Given the description of an element on the screen output the (x, y) to click on. 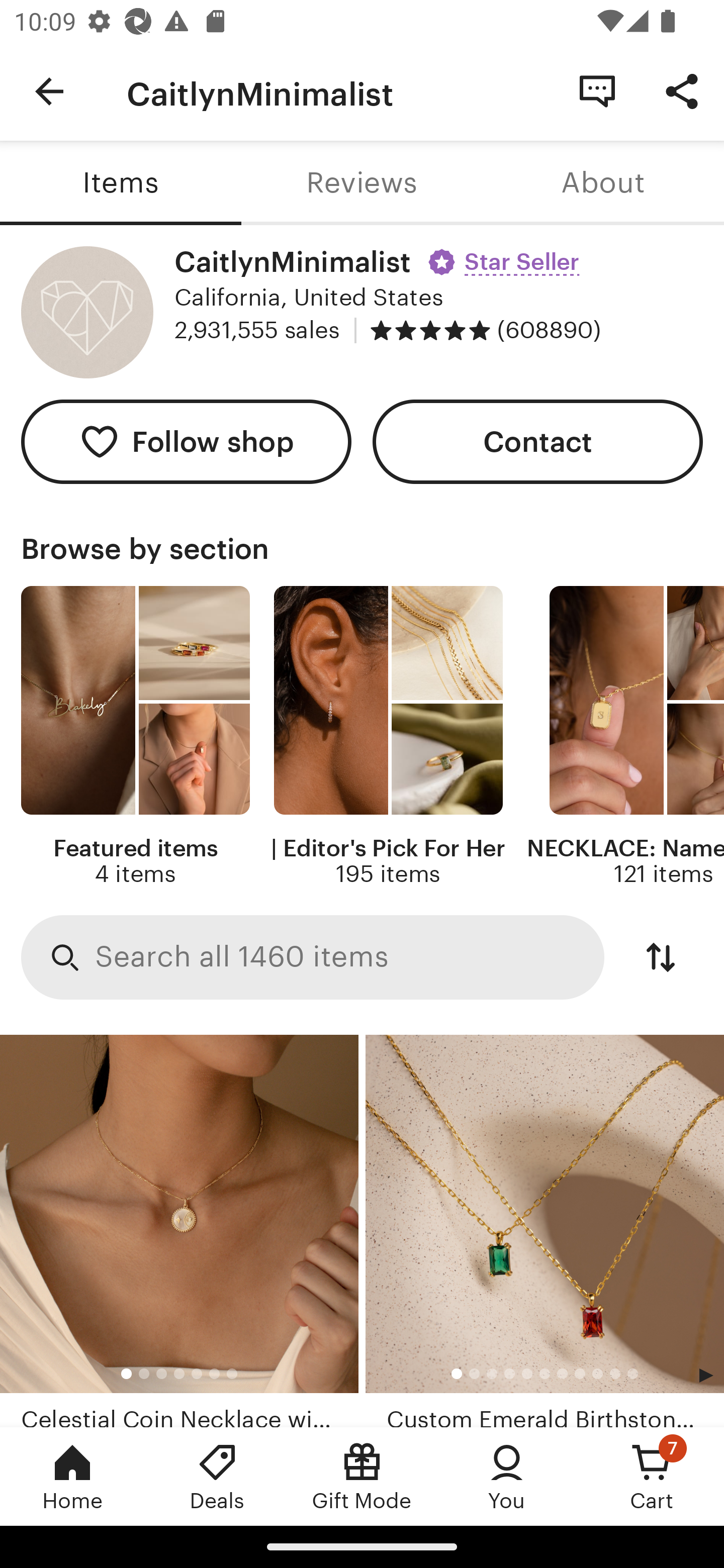
Navigate up (49, 91)
Contact Shop (597, 90)
Share (681, 90)
Reviews (361, 183)
About (603, 183)
Star Seller (506, 255)
Follow shop (185, 441)
Contact (537, 441)
Featured items 4 items (134, 736)
| Editor's Pick For Her 195 items (388, 736)
NECKLACE: Name, Initial 121 items (625, 736)
Search Search all 1460 items (312, 957)
Deals (216, 1475)
Gift Mode (361, 1475)
You (506, 1475)
Cart, 7 new notifications Cart (651, 1475)
